Given the description of an element on the screen output the (x, y) to click on. 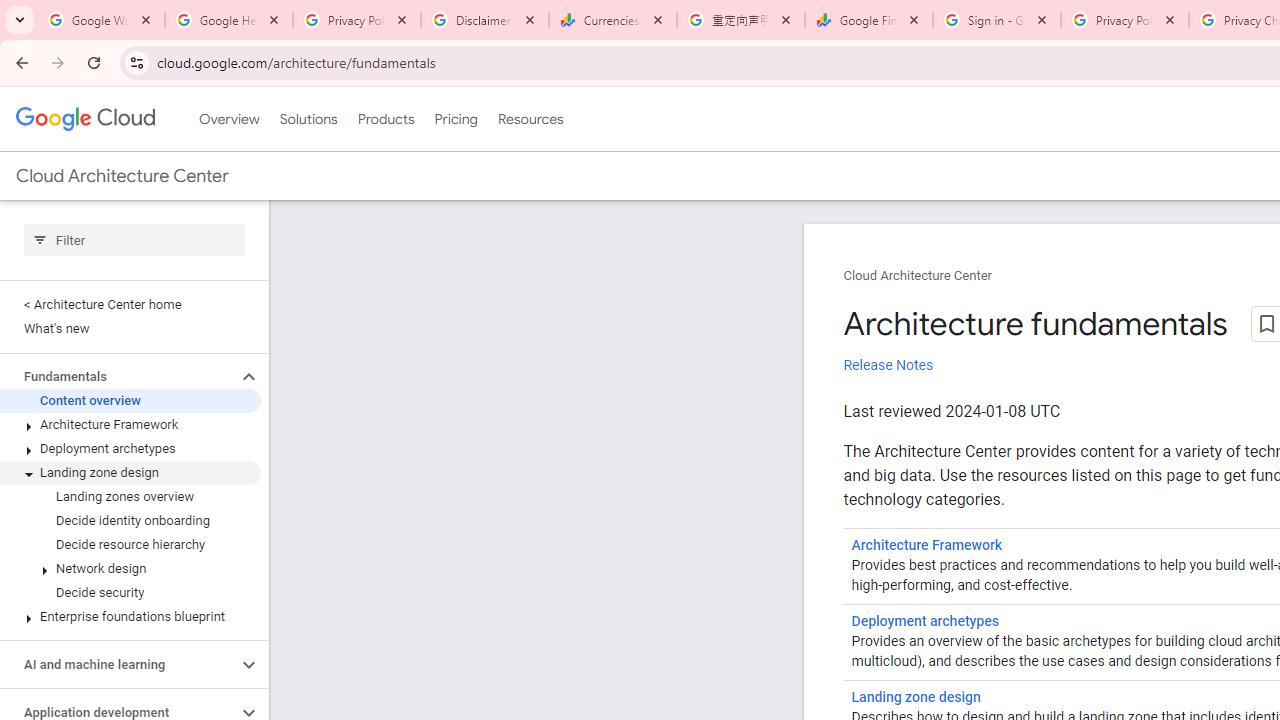
AI and machine learning (118, 664)
Decide resource hierarchy (130, 544)
Products (385, 119)
Deployment archetypes (130, 448)
Architecture Framework (130, 425)
Solutions (308, 119)
Fundamentals (118, 376)
Enterprise foundations blueprint (130, 616)
Sign in - Google Accounts (997, 20)
Release Notes (888, 365)
What's new (130, 328)
